Given the description of an element on the screen output the (x, y) to click on. 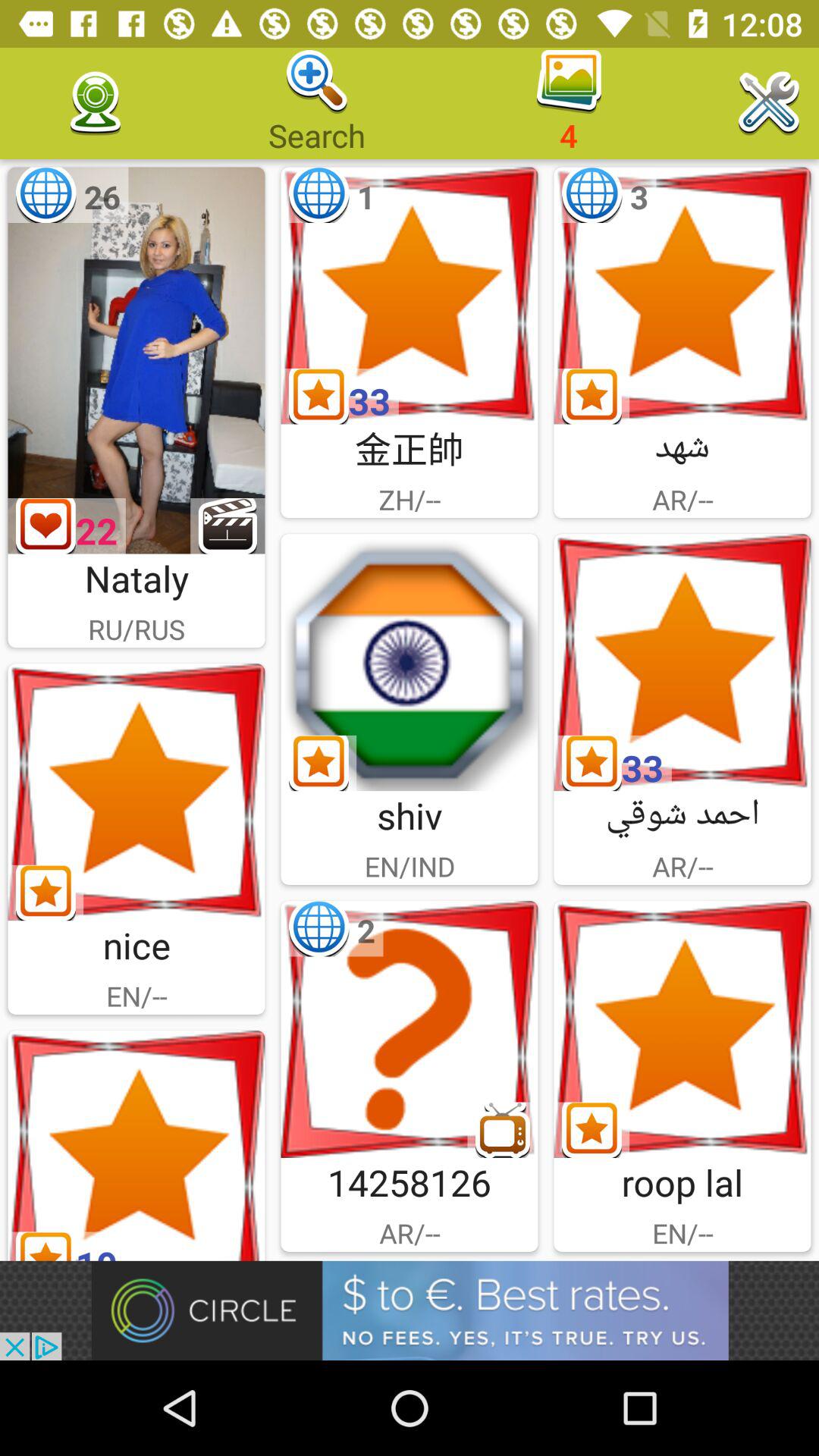
pick ar (682, 662)
